Given the description of an element on the screen output the (x, y) to click on. 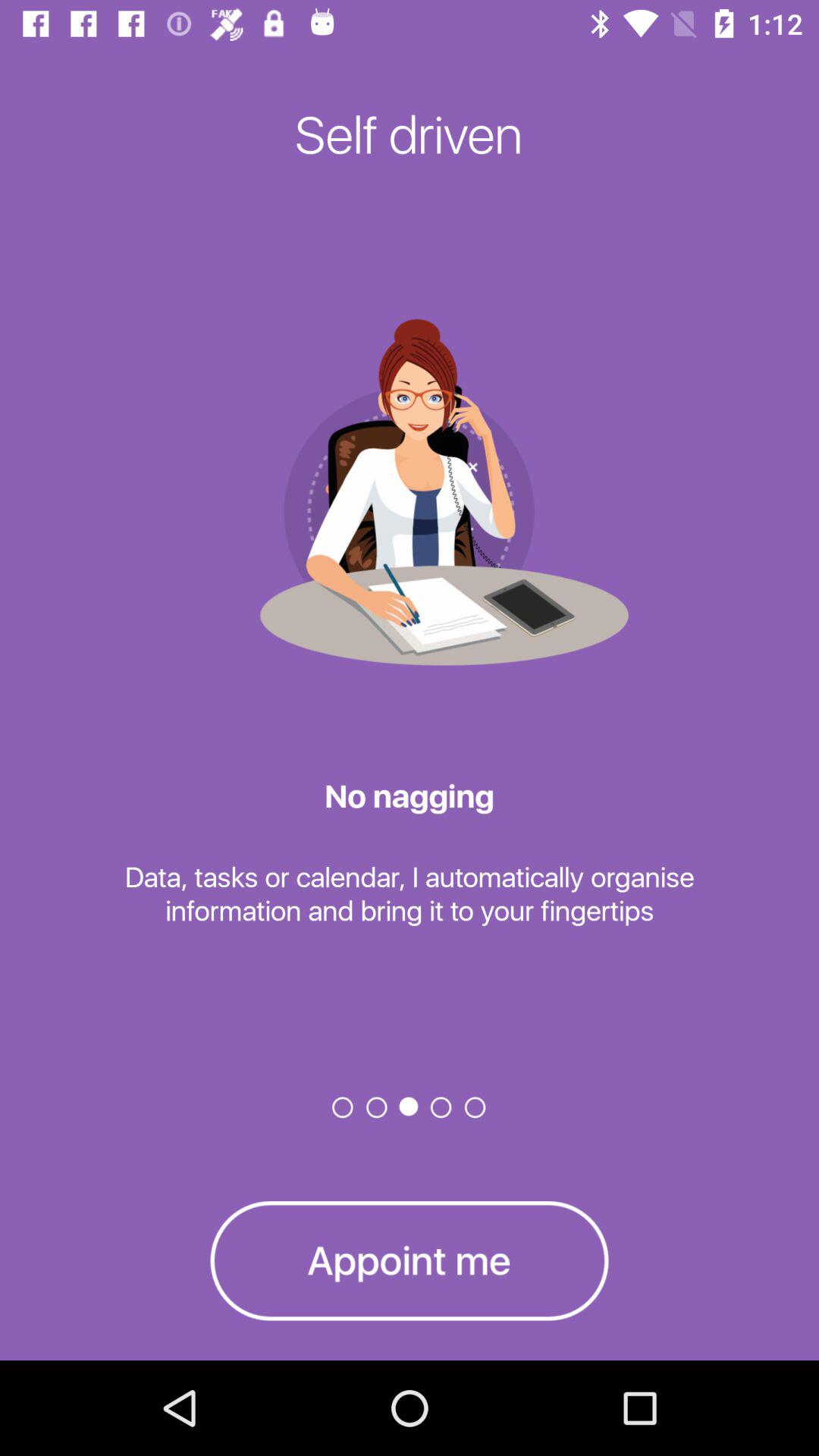
click on the image (409, 491)
go to 1st circle above appoint me box (342, 1107)
second circle above the appoint me button (377, 1107)
select the third ball which is above the appoint me button (409, 1106)
